Given the description of an element on the screen output the (x, y) to click on. 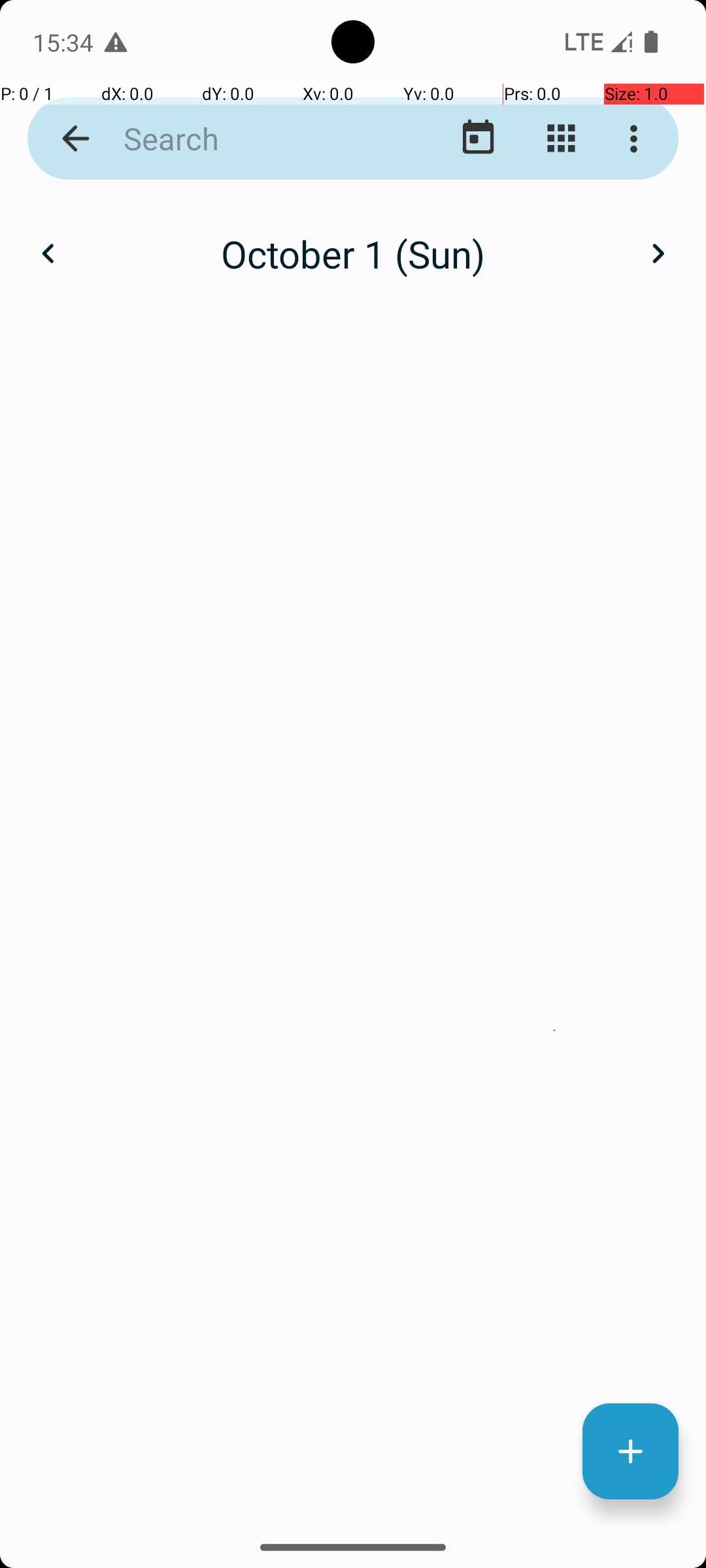
October 1 (Sun) Element type: android.widget.TextView (352, 253)
